Given the description of an element on the screen output the (x, y) to click on. 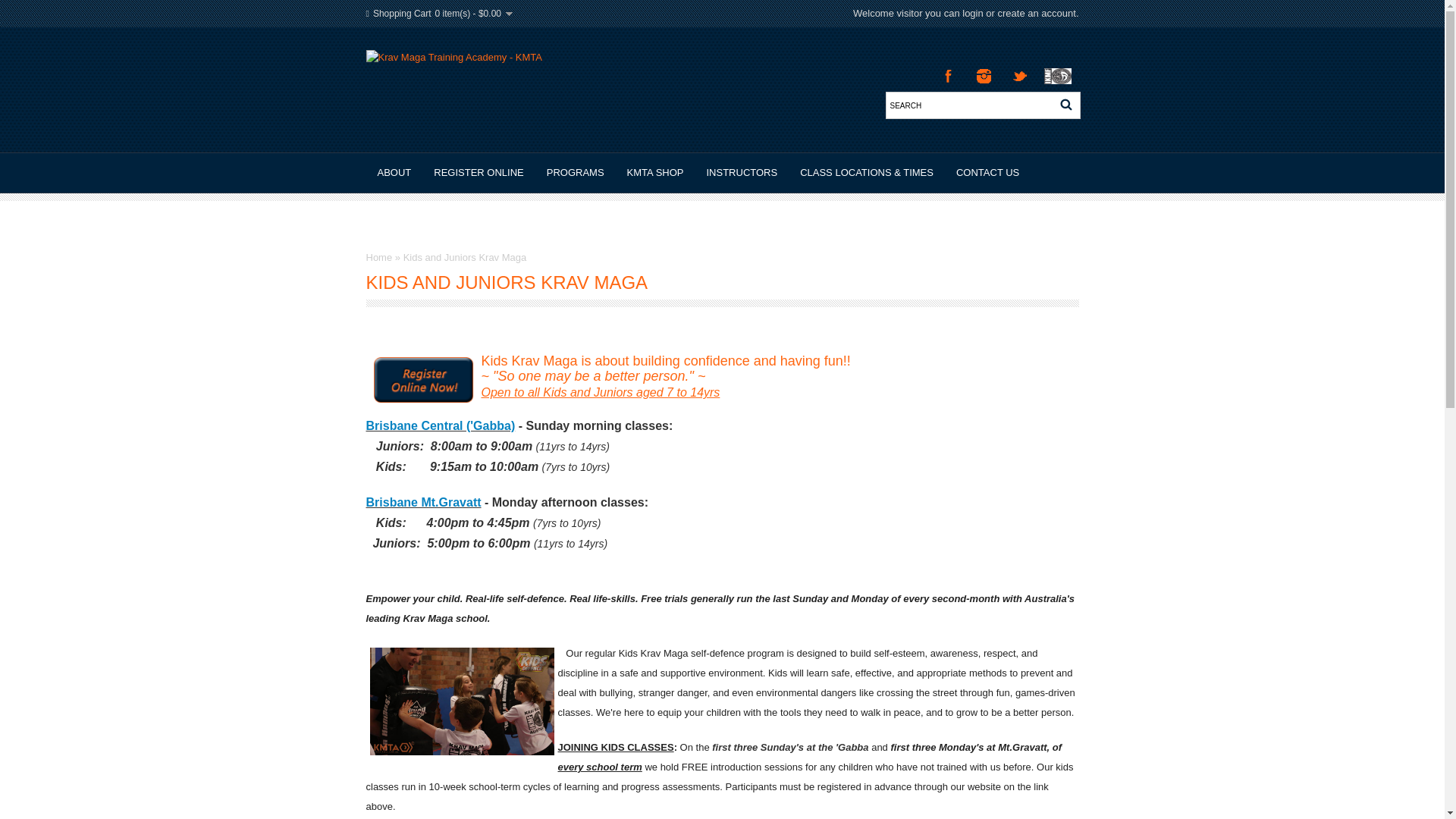
Brisbane Mt.Gravatt Element type: text (422, 501)
KMTA SHOP Element type: text (655, 172)
Brisbane Central ('Gabba) Element type: text (439, 425)
REGISTER ONLINE Element type: text (478, 172)
create an account Element type: text (1036, 12)
Home Element type: text (378, 257)
0 item(s) - $0.00 Element type: text (473, 13)
PROGRAMS Element type: text (575, 172)
CLASS LOCATIONS & TIMES Element type: text (866, 172)
ABOUT Element type: text (393, 172)
CONTACT US Element type: text (987, 172)
INSTRUCTORS Element type: text (741, 172)
login Element type: text (972, 12)
Krav Maga Training Academy - KMTA Element type: hover (563, 89)
Kids and Juniors Krav Maga Element type: text (465, 257)
